Given the description of an element on the screen output the (x, y) to click on. 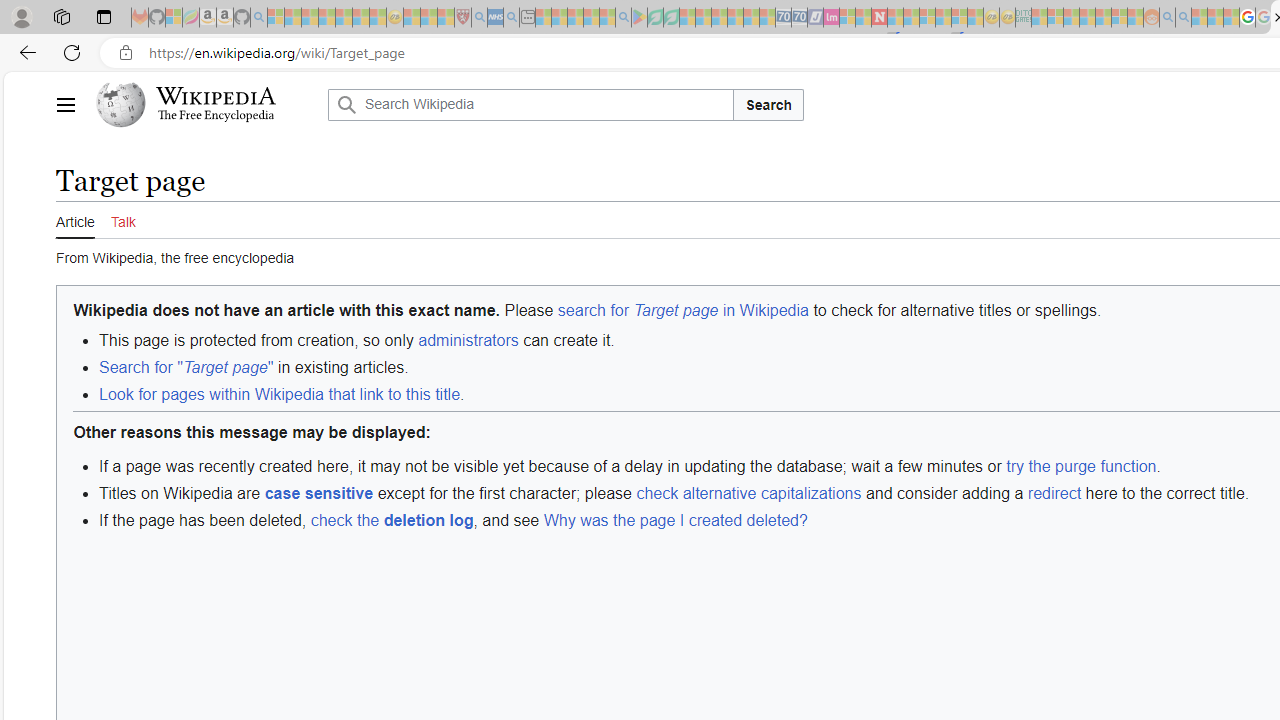
Search for "Target page" (185, 368)
Latest Politics News & Archive | Newsweek.com - Sleeping (879, 17)
Why was the page I created deleted? (674, 520)
New Report Confirms 2023 Was Record Hot | Watch - Sleeping (343, 17)
